Given the description of an element on the screen output the (x, y) to click on. 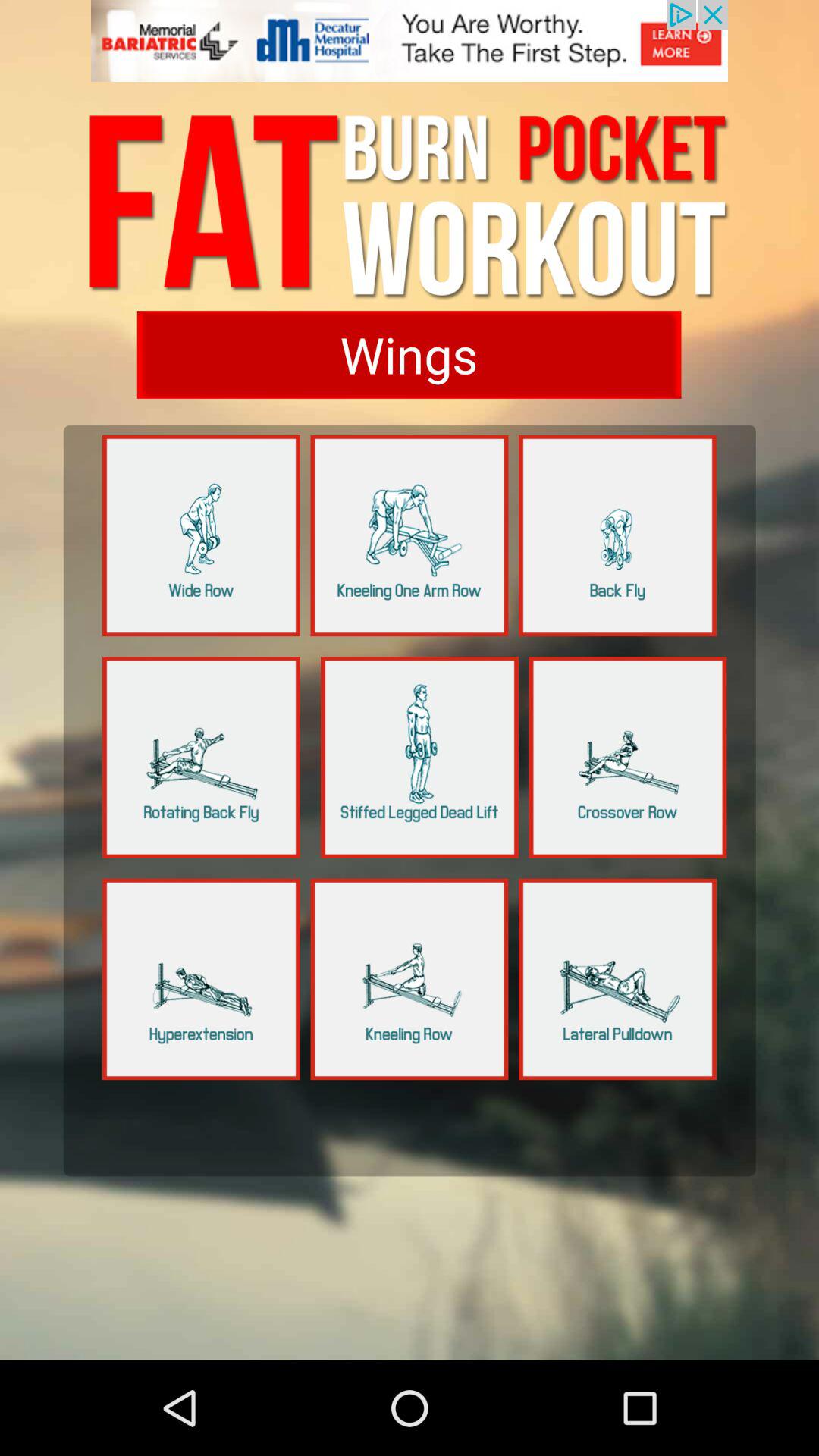
click kneeling row (409, 979)
